Given the description of an element on the screen output the (x, y) to click on. 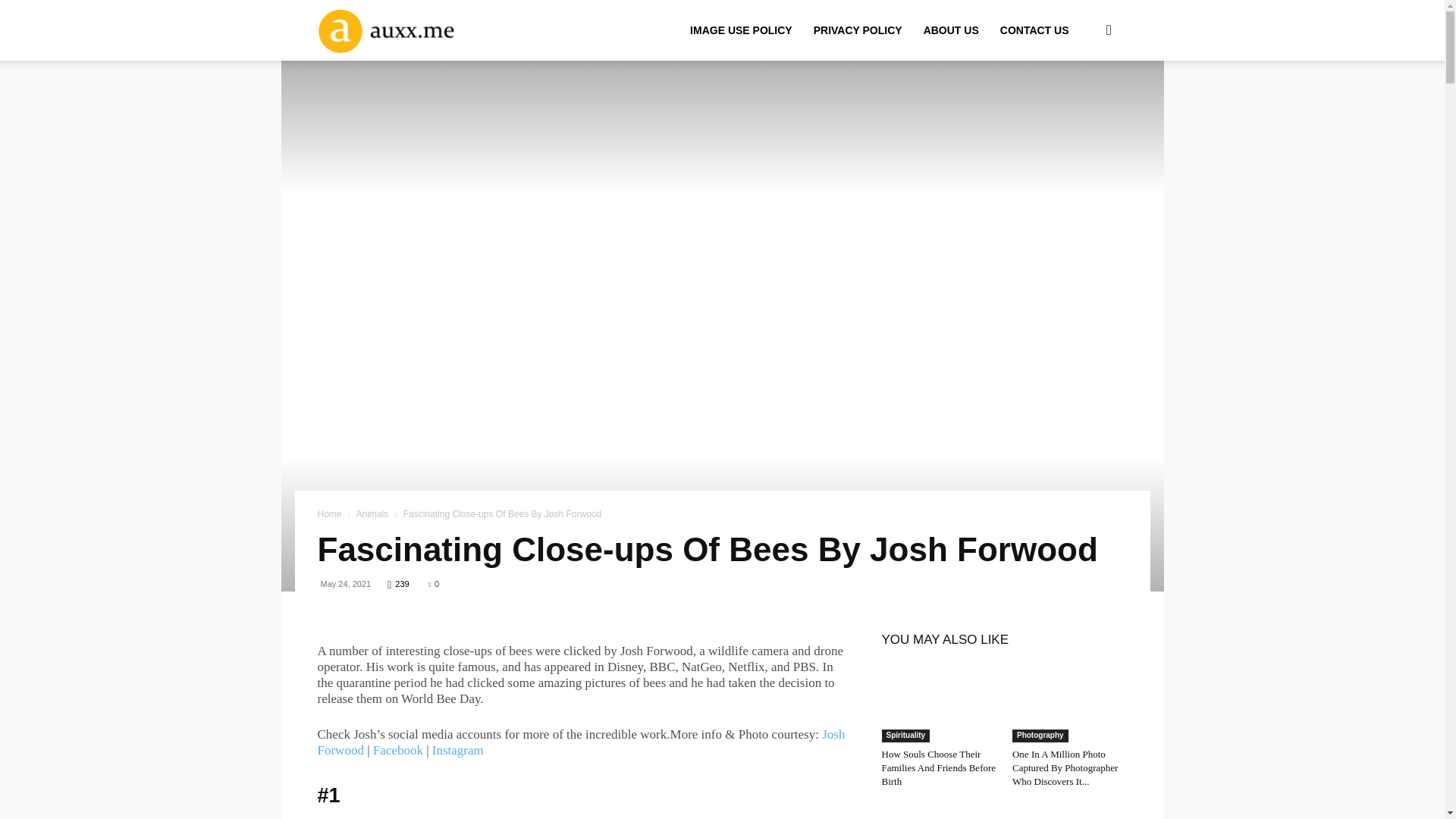
Josh Forwood (580, 742)
0 (433, 583)
Instagram (457, 749)
CONTACT US (1035, 30)
View all posts in Animals (371, 513)
ABOUT US (951, 30)
Search (1085, 102)
Home (328, 513)
Facebook (397, 749)
IMAGE USE POLICY (741, 30)
